Given the description of an element on the screen output the (x, y) to click on. 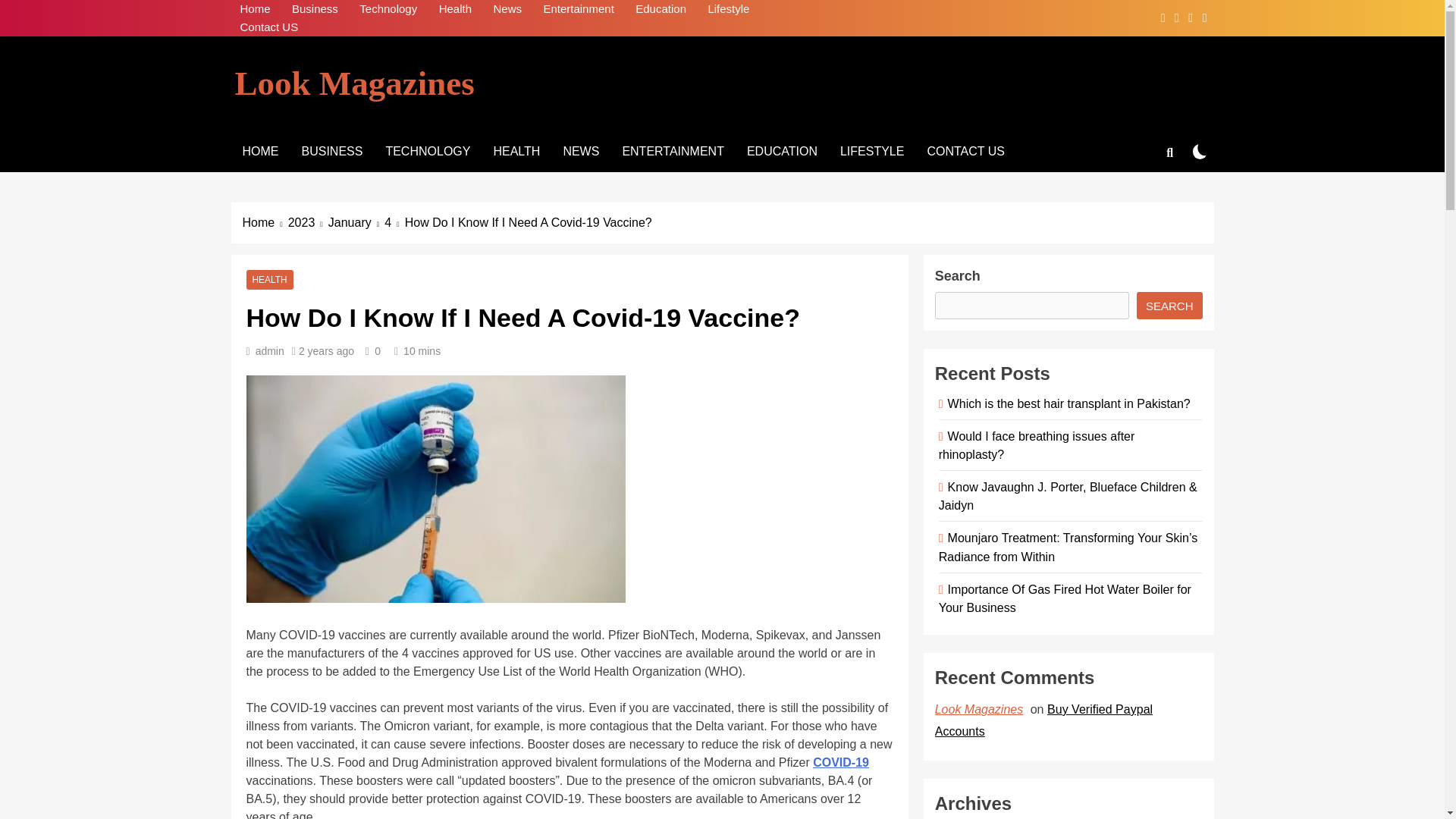
NEWS (580, 151)
Entertainment (578, 8)
TECHNOLOGY (427, 151)
BUSINESS (331, 151)
ENTERTAINMENT (672, 151)
Lifestyle (728, 8)
LIFESTYLE (871, 151)
COVID-19 (840, 762)
HEALTH (268, 279)
Look Magazines (354, 83)
